Given the description of an element on the screen output the (x, y) to click on. 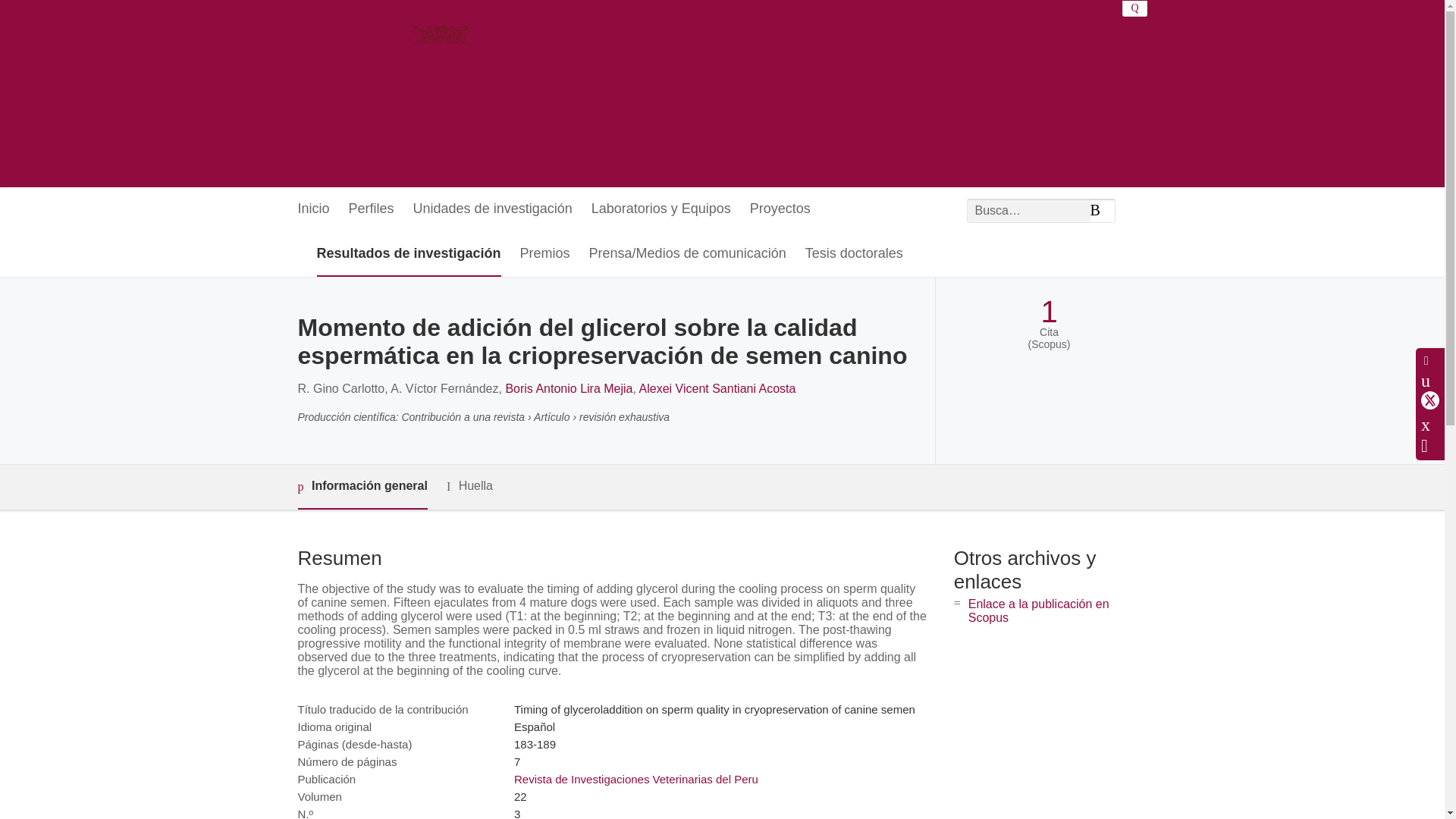
Huella (469, 486)
Perfiles (371, 209)
Tesis doctorales (853, 253)
Laboratorios y Equipos (660, 209)
Revista de Investigaciones Veterinarias del Peru (635, 779)
Boris Antonio Lira Mejia (568, 388)
Proyectos (779, 209)
Alexei Vicent Santiani Acosta (717, 388)
Universidad Nacional Mayor de San Marcos Inicio (463, 93)
Premios (544, 253)
